Given the description of an element on the screen output the (x, y) to click on. 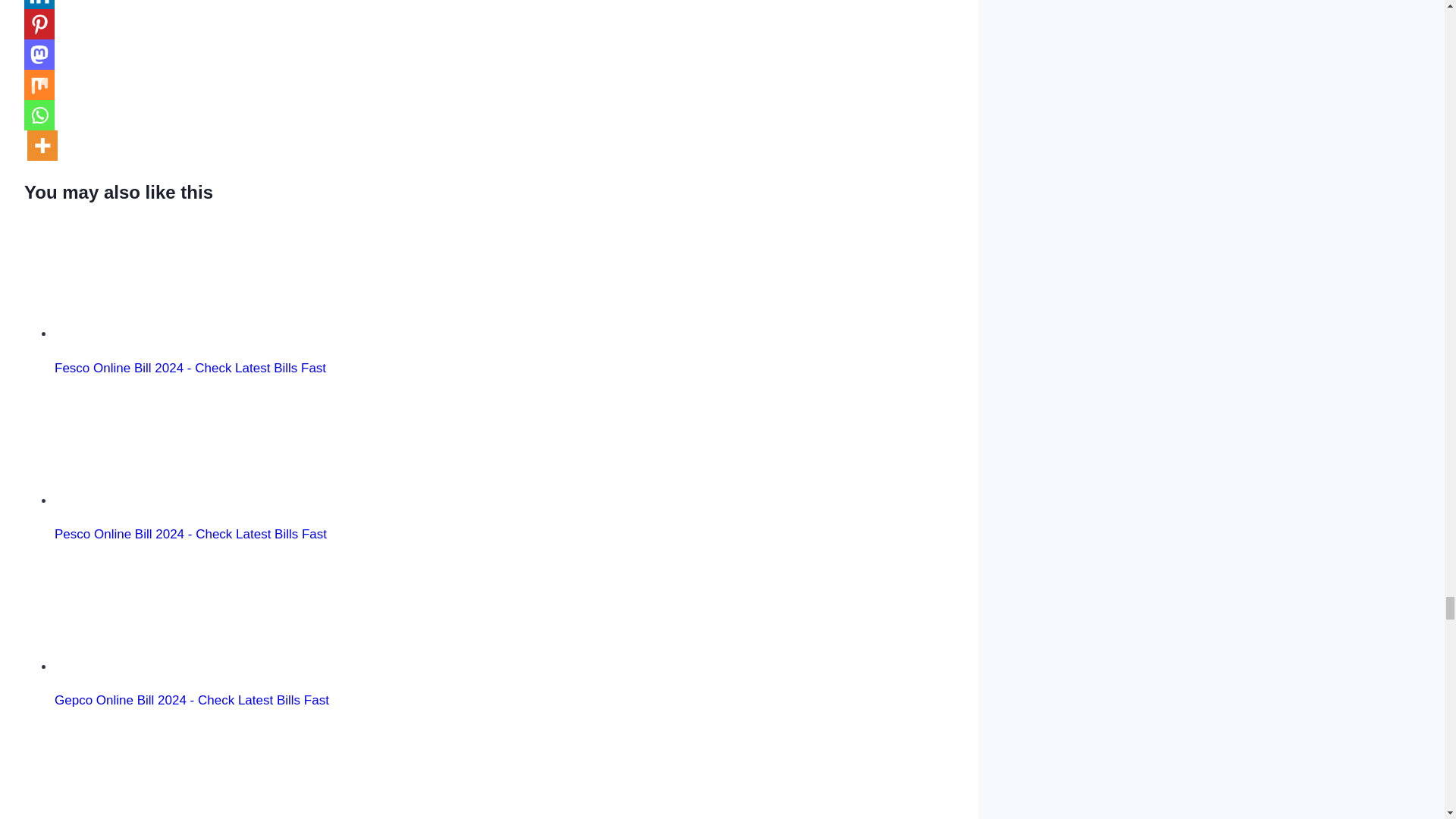
Linkedin (39, 4)
Mix (39, 84)
Gepco Online Bill 2024 - Check Latest Bills Fast (141, 613)
More (42, 145)
Mastodon (39, 54)
Fesco Online Bill 2024 - Check Latest Bills Fast (141, 281)
Pinterest (39, 24)
Whatsapp (39, 114)
Sepco Online Bill 2024 - Check Latest Bills Fast (141, 771)
Pesco Online Bill 2024 - Check Latest Bills Fast (141, 448)
